Given the description of an element on the screen output the (x, y) to click on. 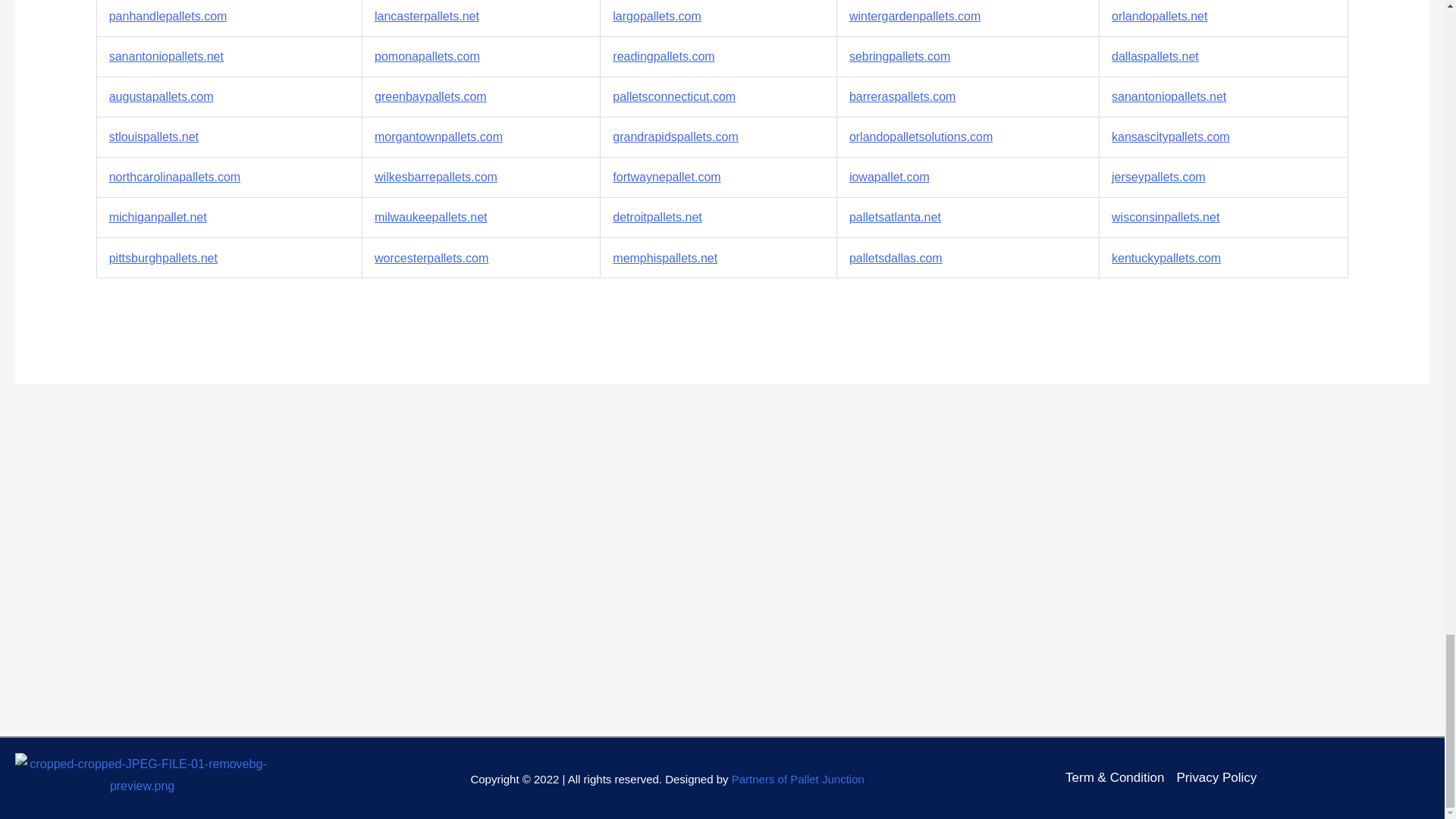
largopallets.com (656, 15)
cropped-cropped-JPEG-FILE-01-removebg-preview.png (141, 774)
lancasterpallets.net (426, 15)
wintergardenpallets.com (913, 15)
panhandlepallets.com (168, 15)
